Given the description of an element on the screen output the (x, y) to click on. 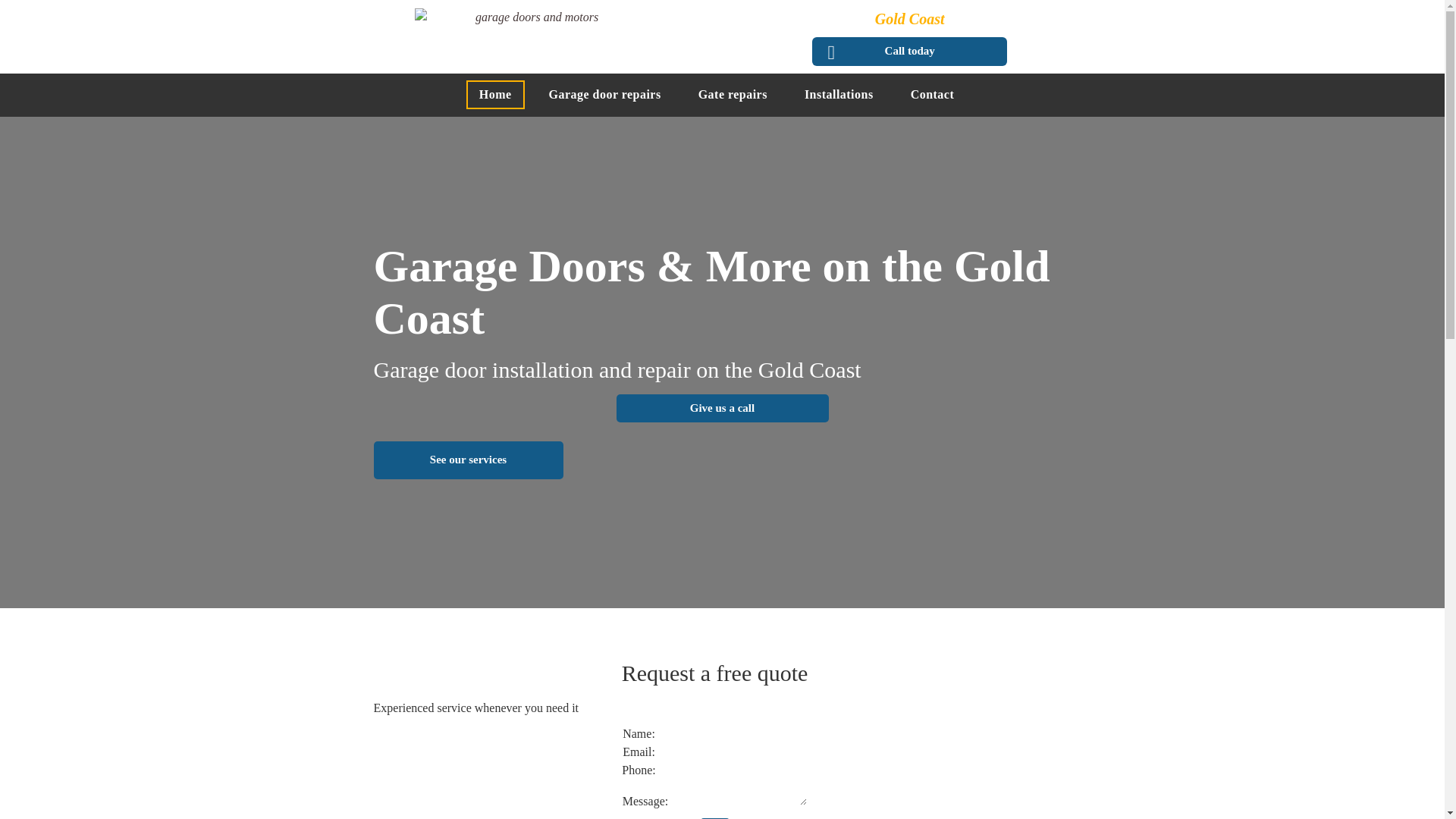
Call today Element type: text (909, 50)
Garage Doors & Motors Element type: hover (530, 34)
See our services Element type: text (467, 460)
Give us a call Element type: text (721, 408)
Installations Element type: text (838, 94)
Garage door repairs Element type: text (605, 94)
Home Element type: text (495, 94)
Contact Element type: text (932, 94)
Gate repairs Element type: text (732, 94)
